Given the description of an element on the screen output the (x, y) to click on. 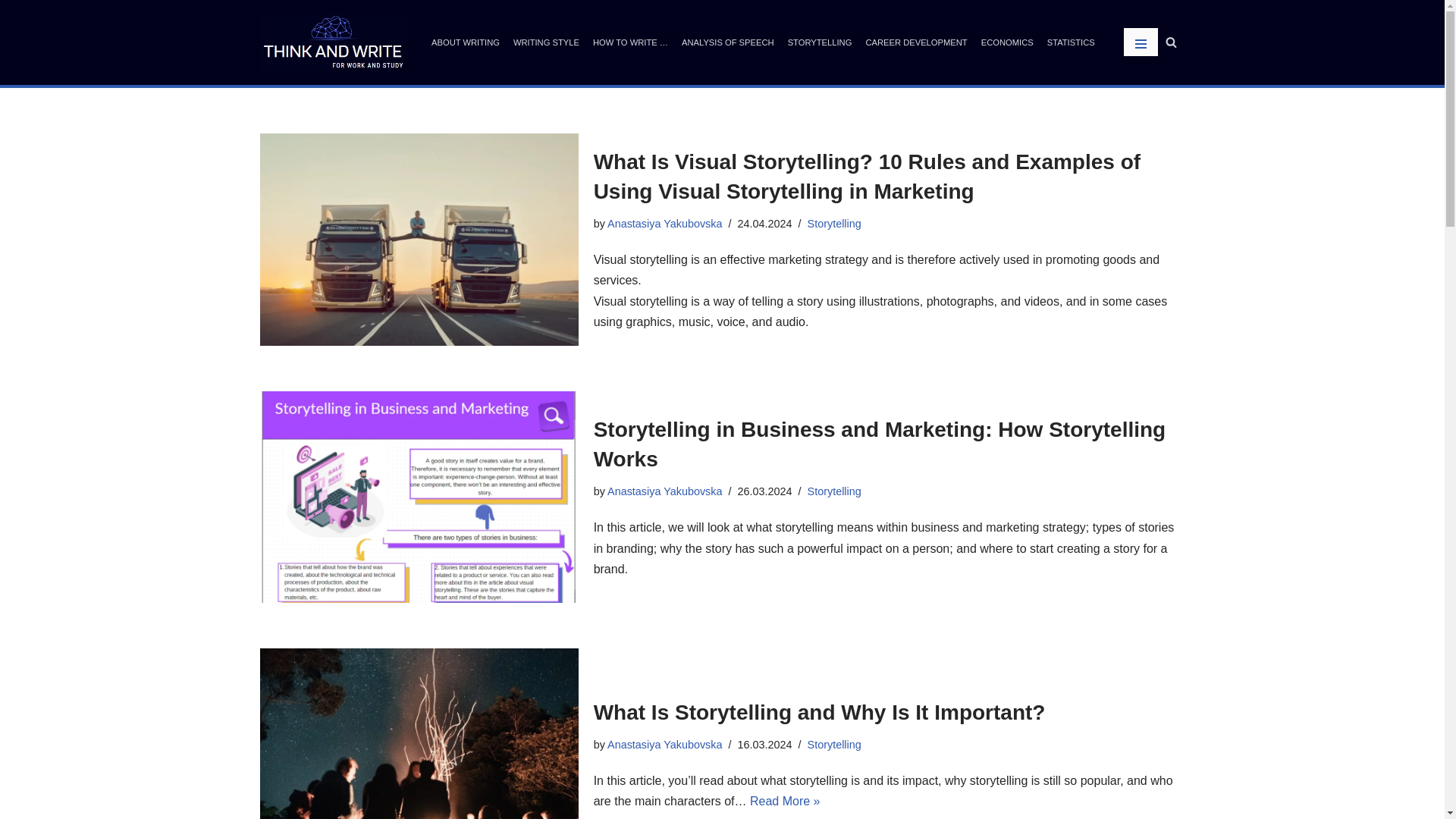
ECONOMICS (1007, 41)
Anastasiya Yakubovska (664, 744)
WRITING STYLE (546, 41)
Storytelling (834, 223)
ANALYSIS OF SPEECH (727, 41)
Posts by Anastasiya Yakubovska (664, 491)
Storytelling (834, 491)
Anastasiya Yakubovska (664, 491)
What Is Storytelling and Why Is It Important? (819, 712)
